Given the description of an element on the screen output the (x, y) to click on. 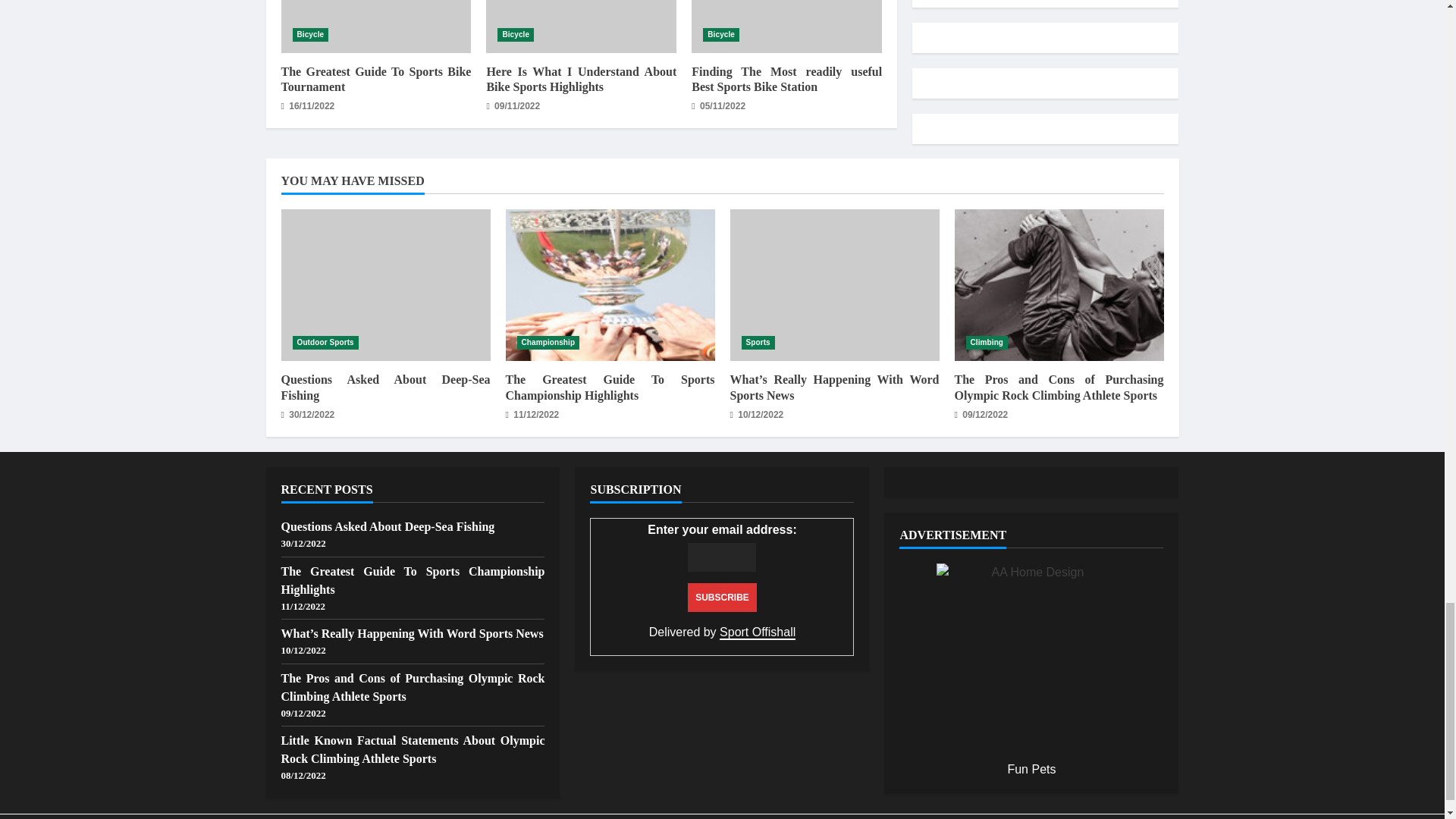
Finding The Most readily useful Best Sports Bike Station (786, 26)
Subscribe (722, 597)
Finding The Most readily useful Best Sports Bike Station (786, 26)
The Greatest Guide To Sports Bike Tournament (375, 26)
Here Is What I Understand About Bike Sports Highlights (581, 26)
The Greatest Guide To Sports Championship Highlights (609, 285)
Bicycle (721, 34)
Finding The Most readily useful Best Sports Bike Station (786, 79)
Bicycle (310, 34)
Bicycle (515, 34)
